Given the description of an element on the screen output the (x, y) to click on. 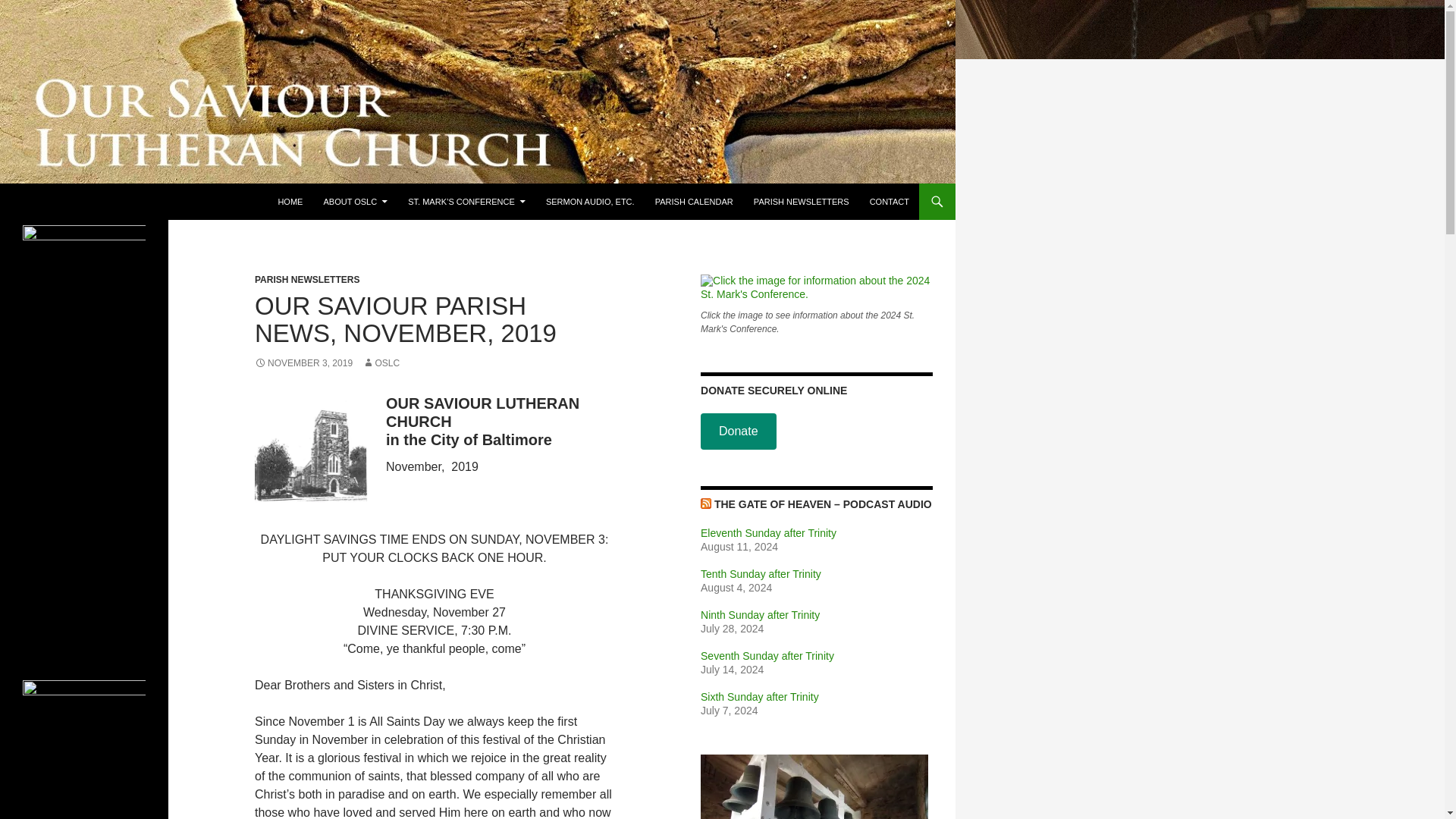
Our Saviour Lutheran Church (118, 201)
HOME (289, 201)
SERMON AUDIO, ETC. (590, 201)
PARISH NEWSLETTERS (801, 201)
PARISH NEWSLETTERS (306, 279)
OSLC (380, 362)
CONTACT (889, 201)
PARISH CALENDAR (694, 201)
